Given the description of an element on the screen output the (x, y) to click on. 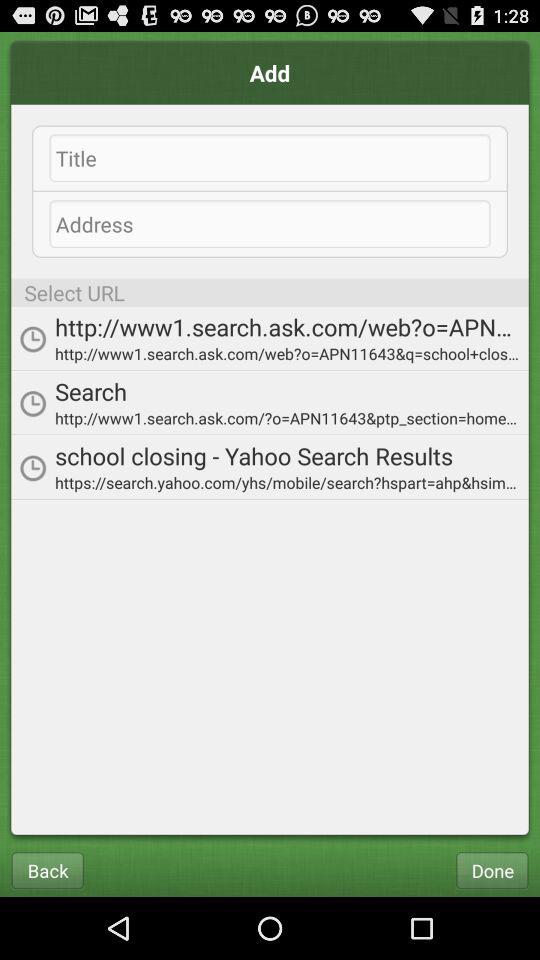
press icon at the bottom right corner (492, 870)
